Given the description of an element on the screen output the (x, y) to click on. 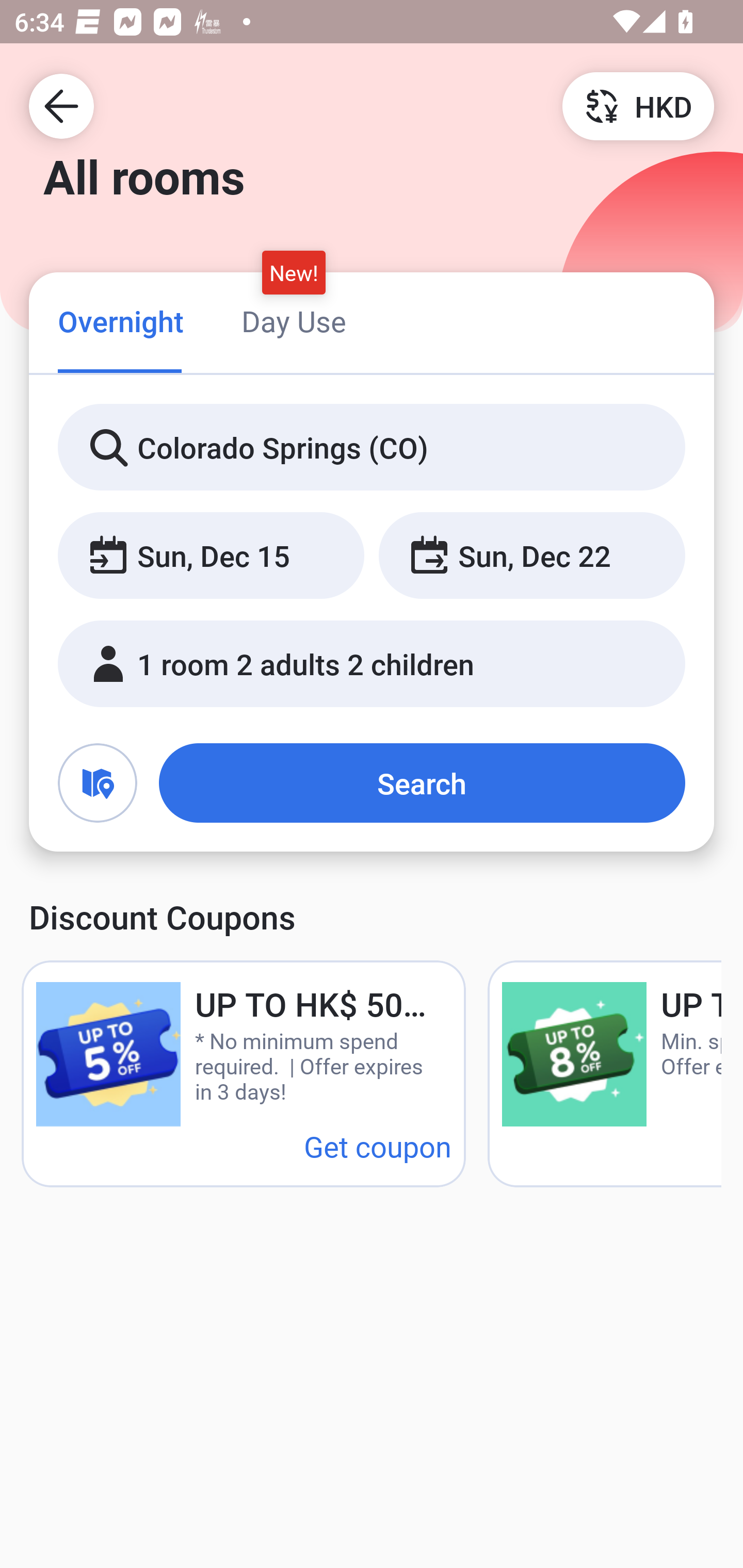
HKD (638, 105)
New! (294, 272)
Day Use (293, 321)
Colorado Springs (CO) (371, 447)
Sun, Dec 15 (210, 555)
Sun, Dec 22 (531, 555)
1 room 2 adults 2 children (371, 663)
Search (422, 783)
Get coupon (377, 1146)
